Given the description of an element on the screen output the (x, y) to click on. 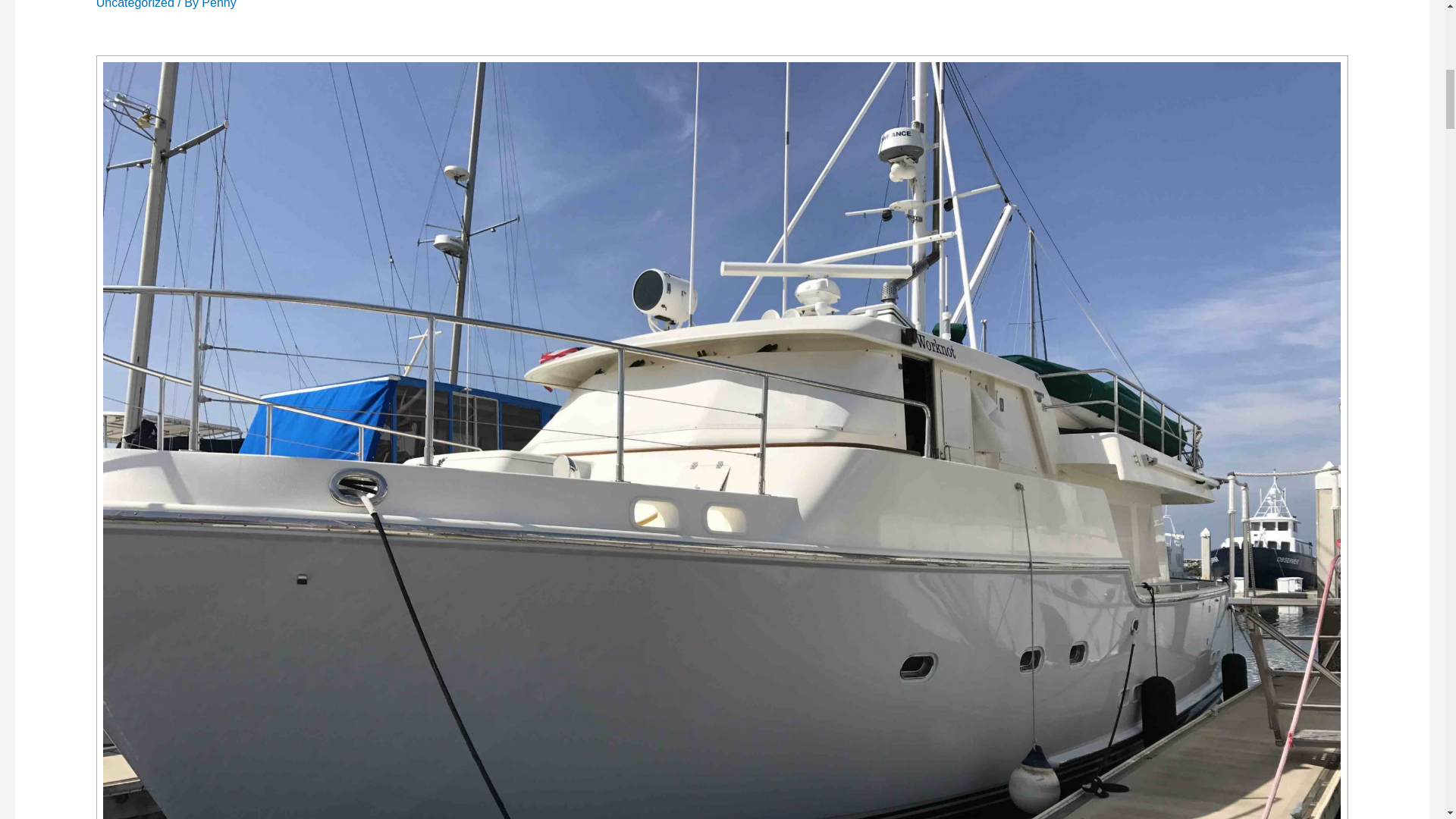
Uncategorized (135, 4)
Penny (218, 4)
View all posts by Penny (218, 4)
